Given the description of an element on the screen output the (x, y) to click on. 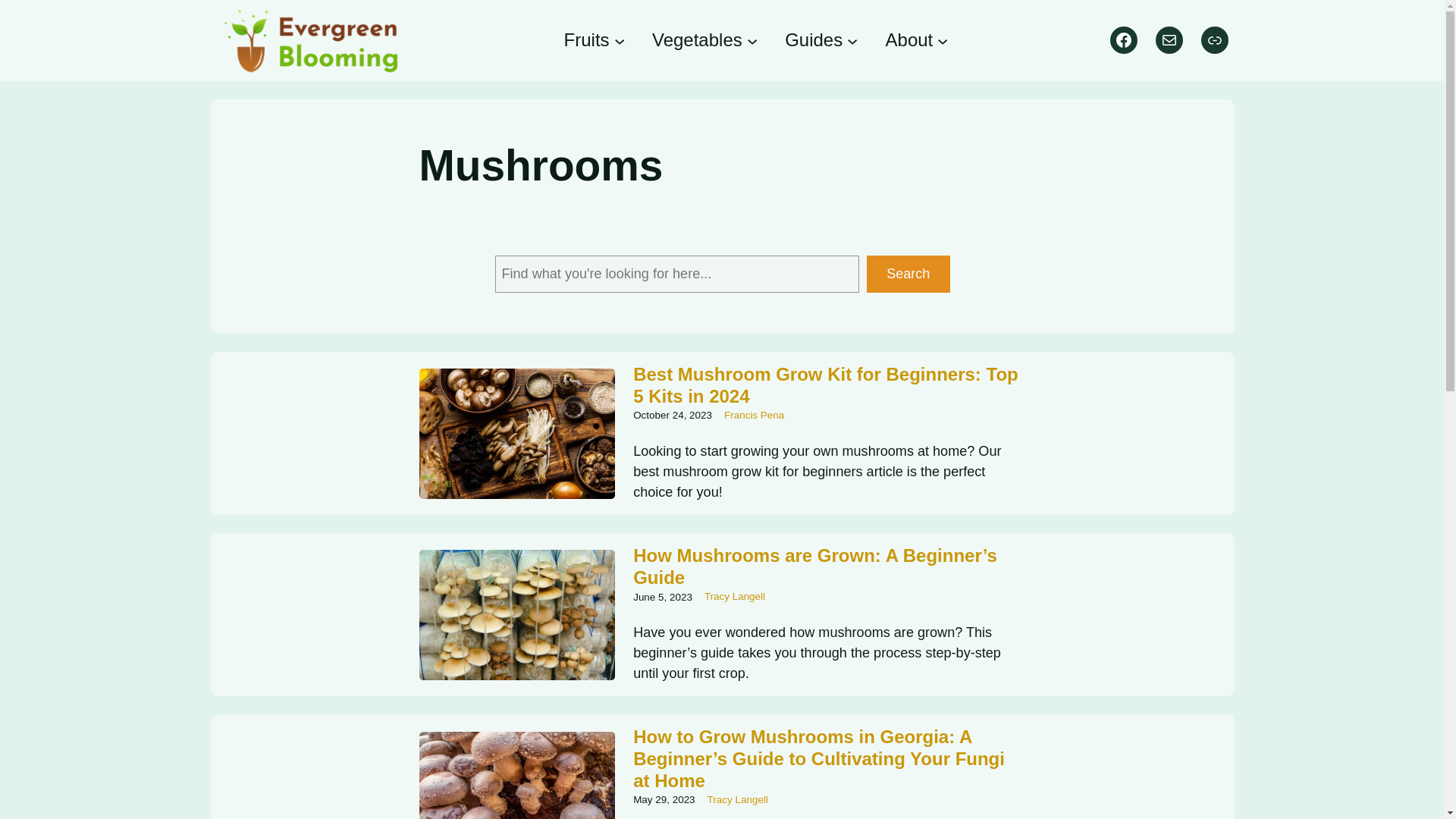
Guides (813, 39)
About (909, 39)
Fruits (587, 39)
Vegetables (697, 39)
